Given the description of an element on the screen output the (x, y) to click on. 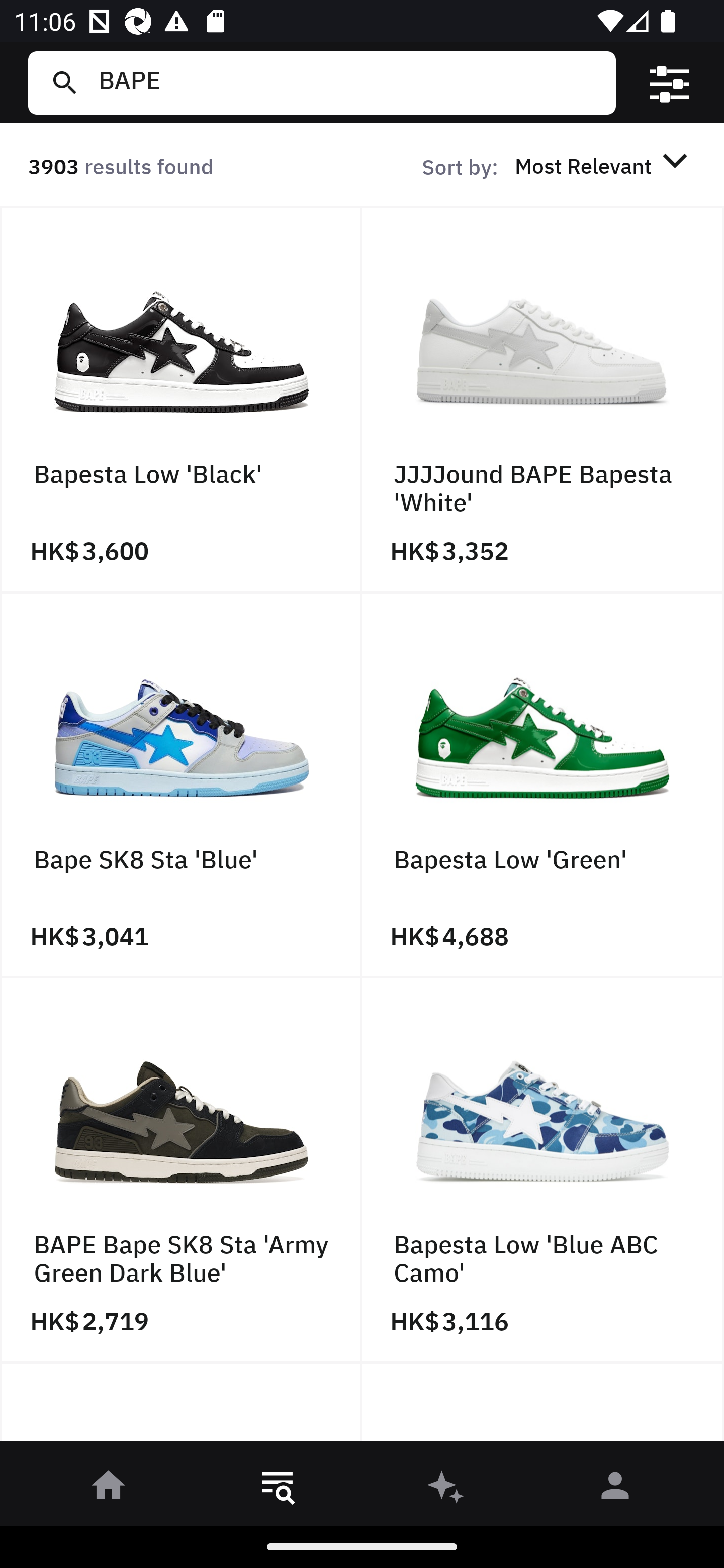
BAPE (349, 82)
 (669, 82)
Most Relevant  (604, 165)
Bapesta Low 'Black' HK$ 3,600 (181, 399)
JJJJound BAPE Bapesta 'White' HK$ 3,352 (543, 399)
Bape SK8 Sta 'Blue' HK$ 3,041 (181, 785)
Bapesta Low 'Green' HK$ 4,688 (543, 785)
BAPE Bape SK8 Sta 'Army Green Dark Blue' HK$ 2,719 (181, 1171)
Bapesta Low 'Blue ABC Camo' HK$ 3,116 (543, 1171)
󰋜 (108, 1488)
󱎸 (277, 1488)
󰫢 (446, 1488)
󰀄 (615, 1488)
